Given the description of an element on the screen output the (x, y) to click on. 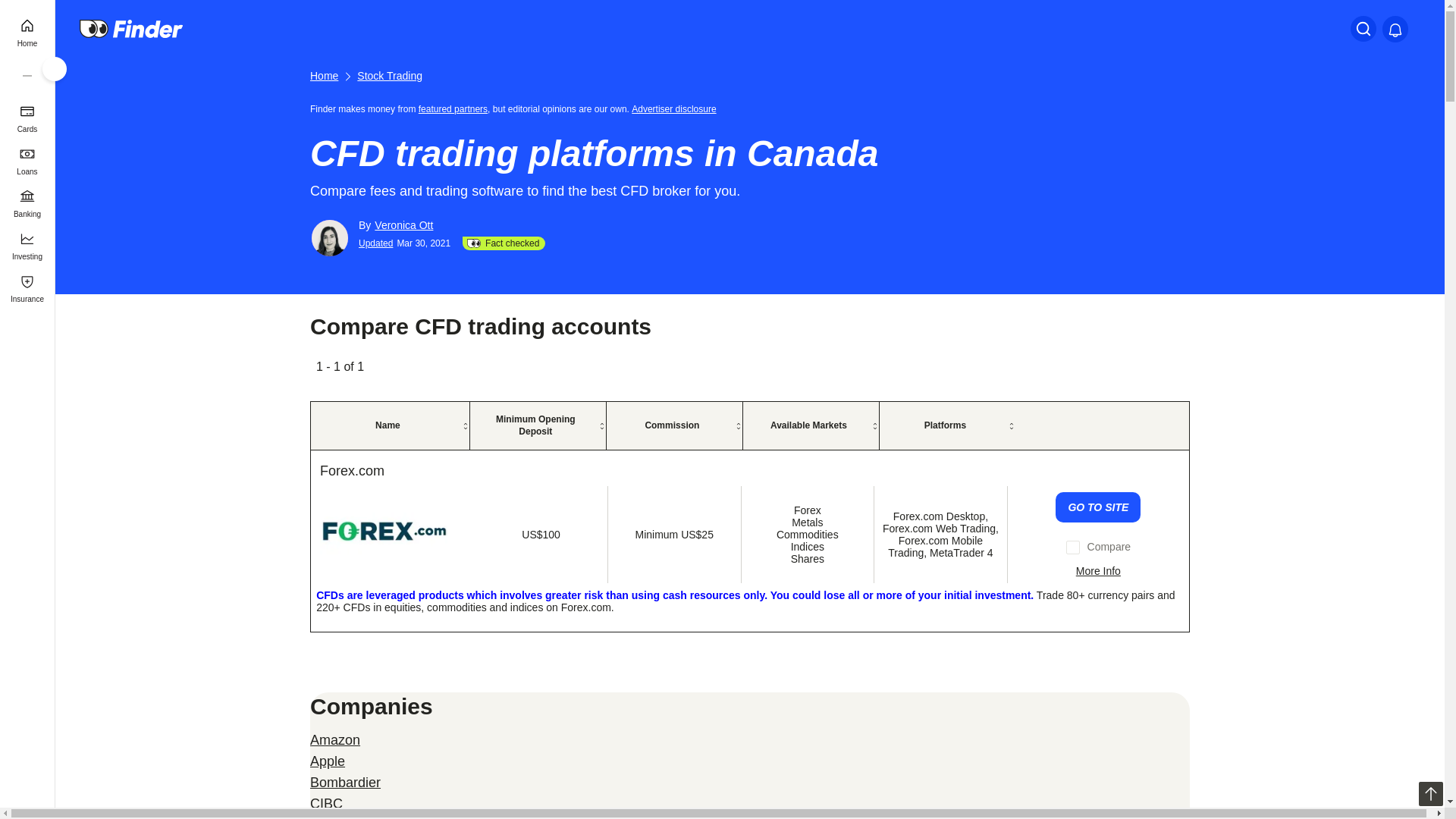
Read More About The Forex.com (1097, 571)
Apply Now For The Forex.com (1097, 507)
Back to Top (1430, 793)
Important information about this website (676, 108)
